Given the description of an element on the screen output the (x, y) to click on. 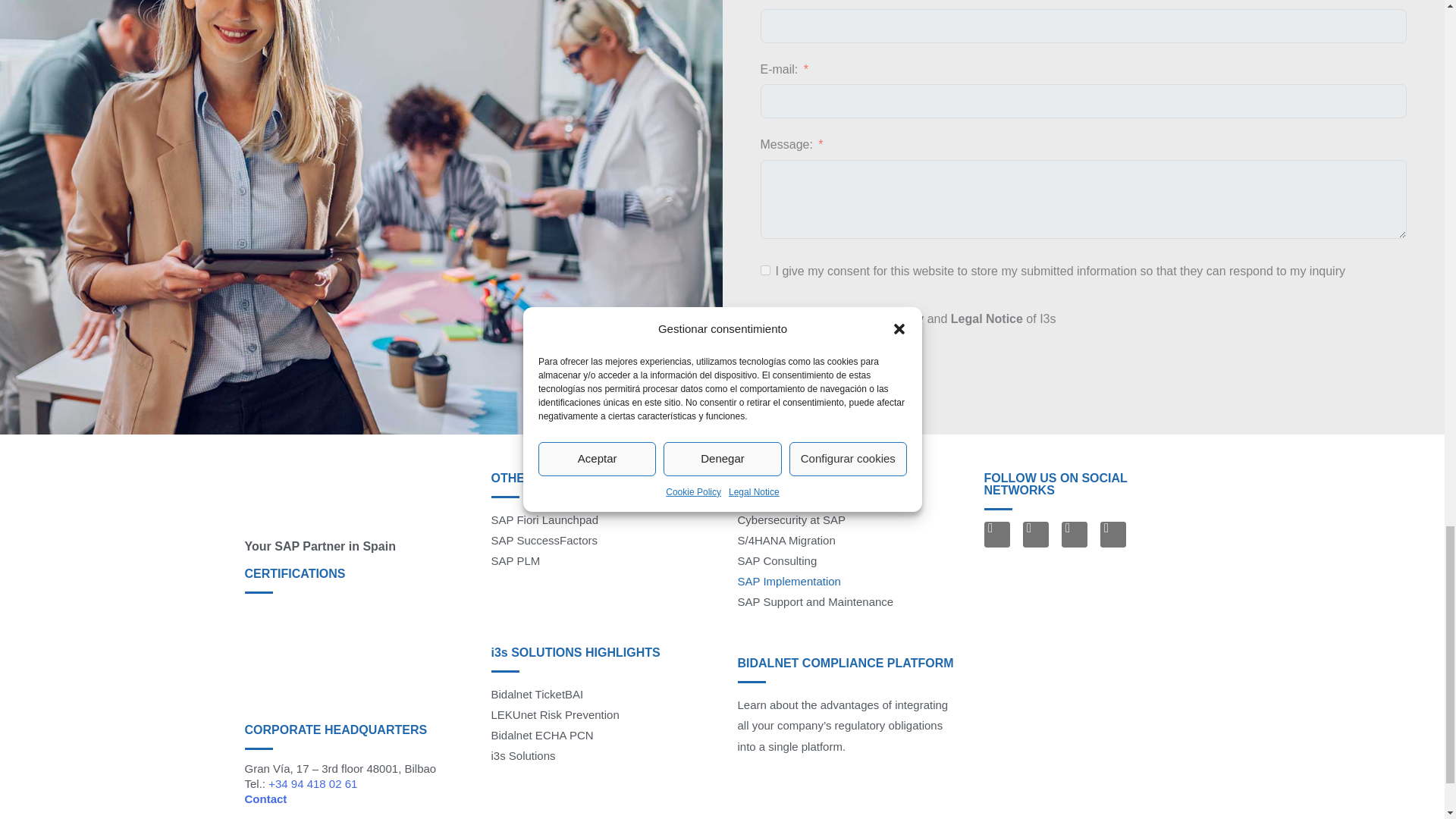
on (765, 317)
on (765, 270)
